Given the description of an element on the screen output the (x, y) to click on. 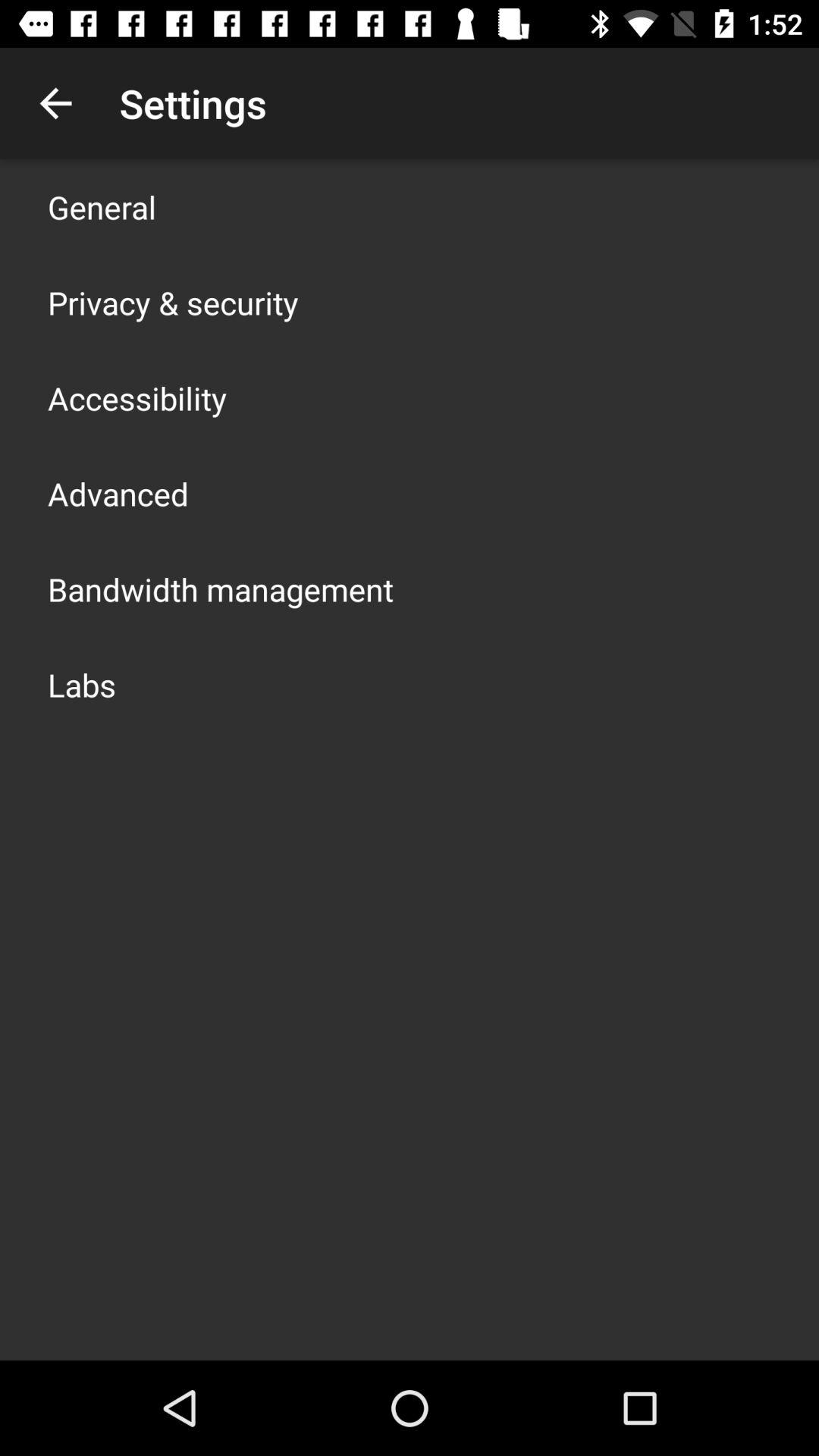
press the bandwidth management (220, 588)
